Given the description of an element on the screen output the (x, y) to click on. 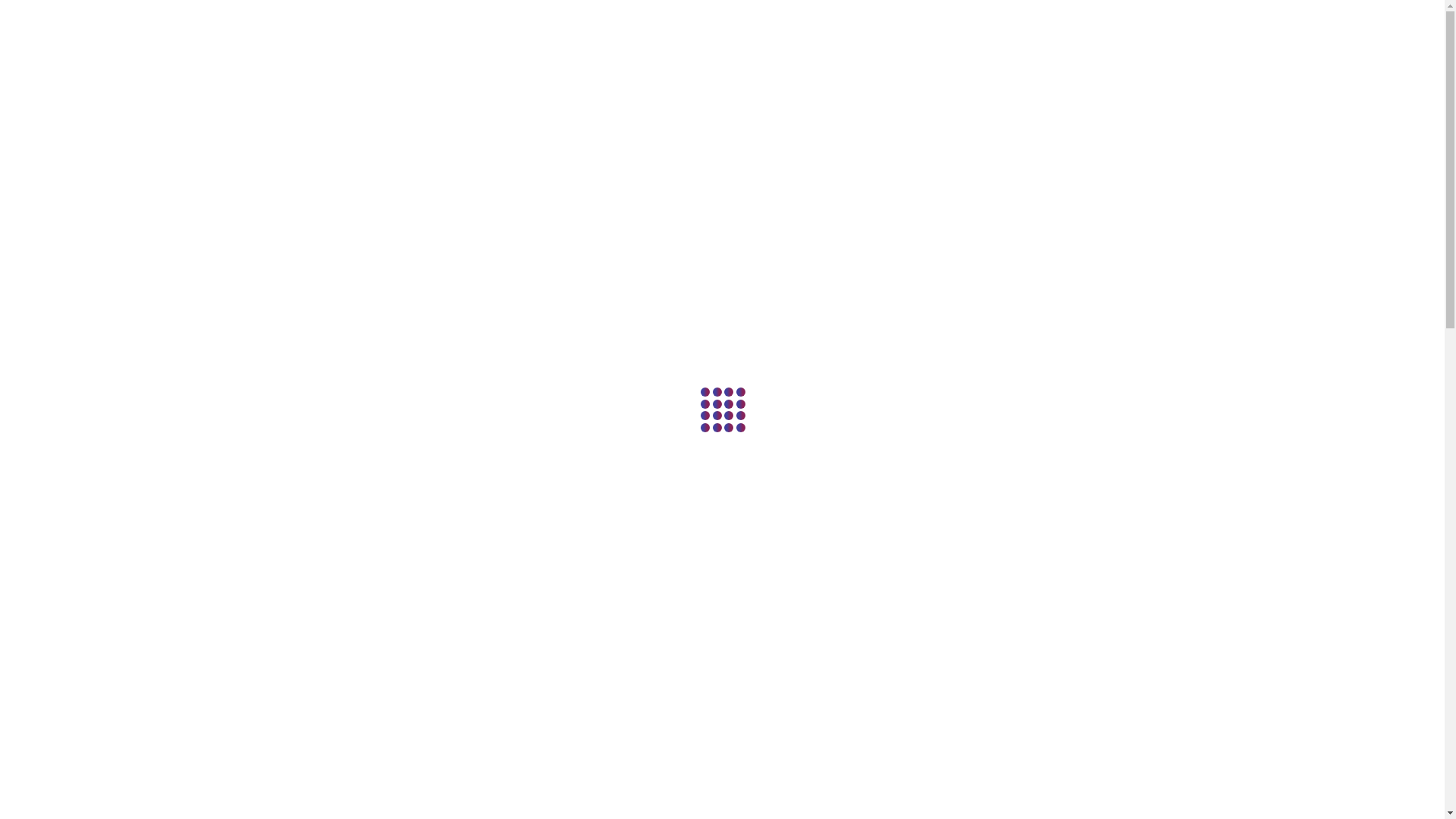
Chauffage Element type: text (533, 39)
CONTACT Element type: text (722, 232)
CONTACT Element type: text (355, 625)
NL Element type: text (1120, 39)
CONTACT Element type: text (1089, 757)
Climatisation Element type: text (884, 39)
Contact Element type: text (1055, 39)
CONTACT Element type: text (1089, 494)
Carrelages Element type: text (711, 39)
CONTACT Element type: text (355, 363)
Plomberie Element type: text (445, 39)
Pierre Bleue Element type: text (976, 47)
